Given the description of an element on the screen output the (x, y) to click on. 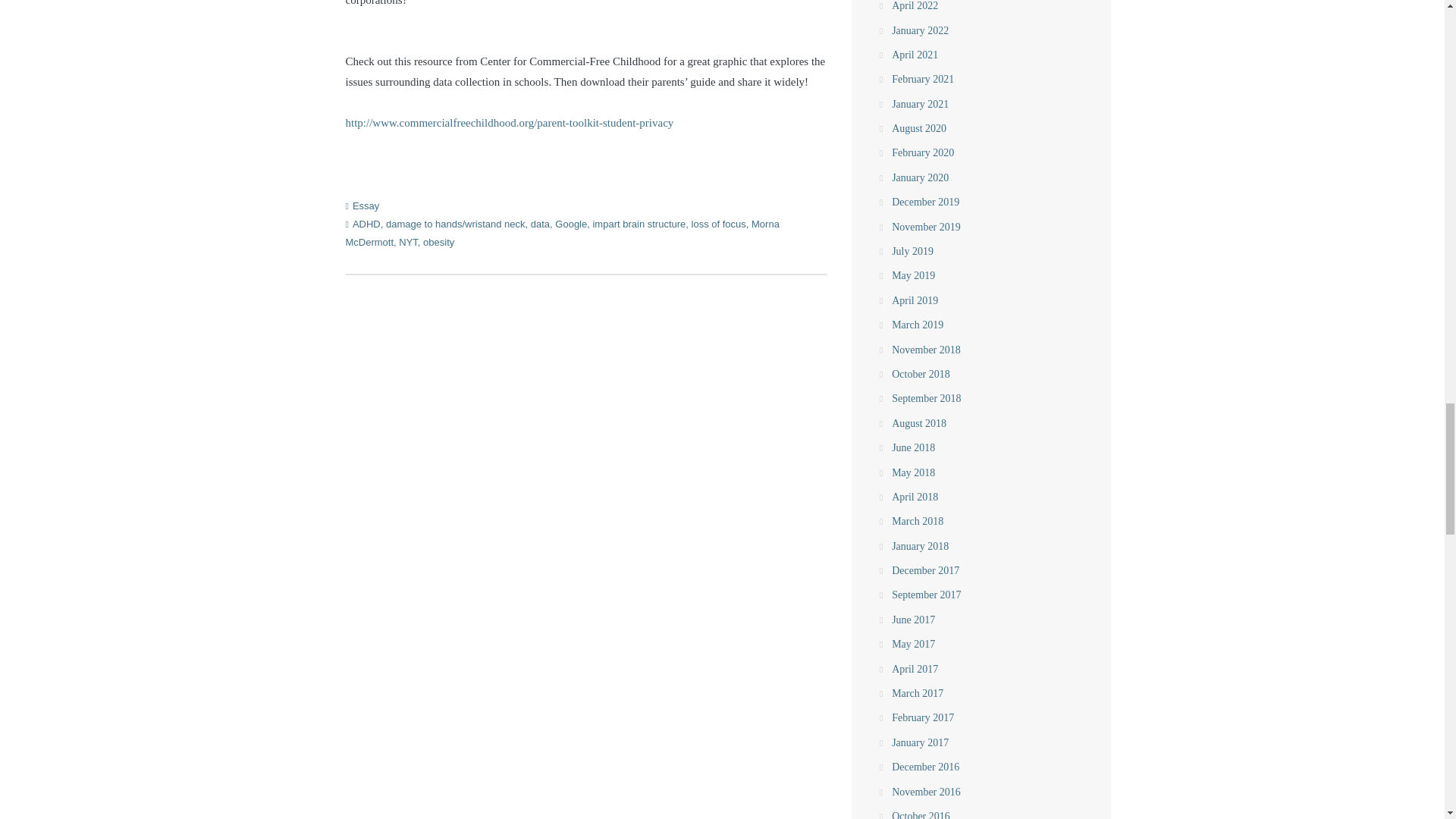
Essay (365, 205)
ADHD (366, 224)
